Given the description of an element on the screen output the (x, y) to click on. 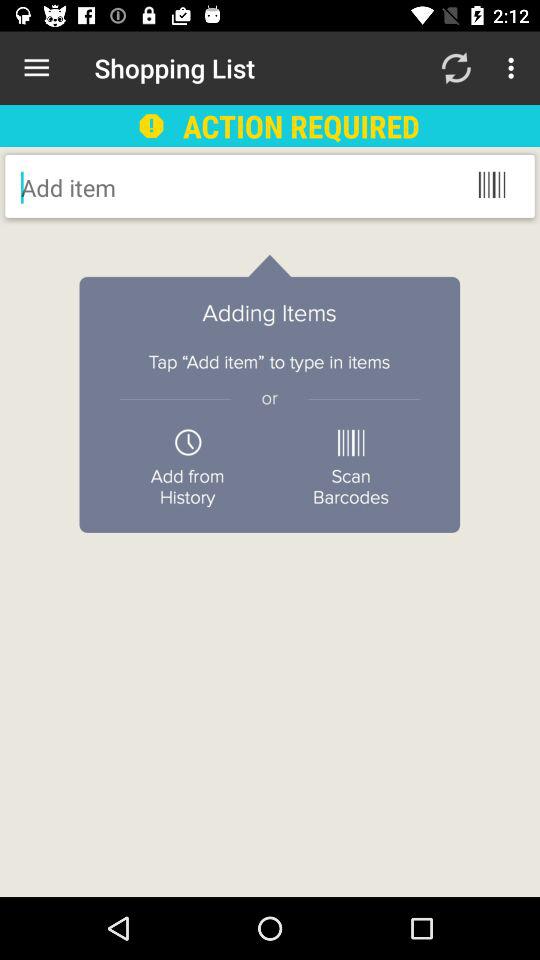
turn off icon to the left of the shopping list (36, 68)
